Given the description of an element on the screen output the (x, y) to click on. 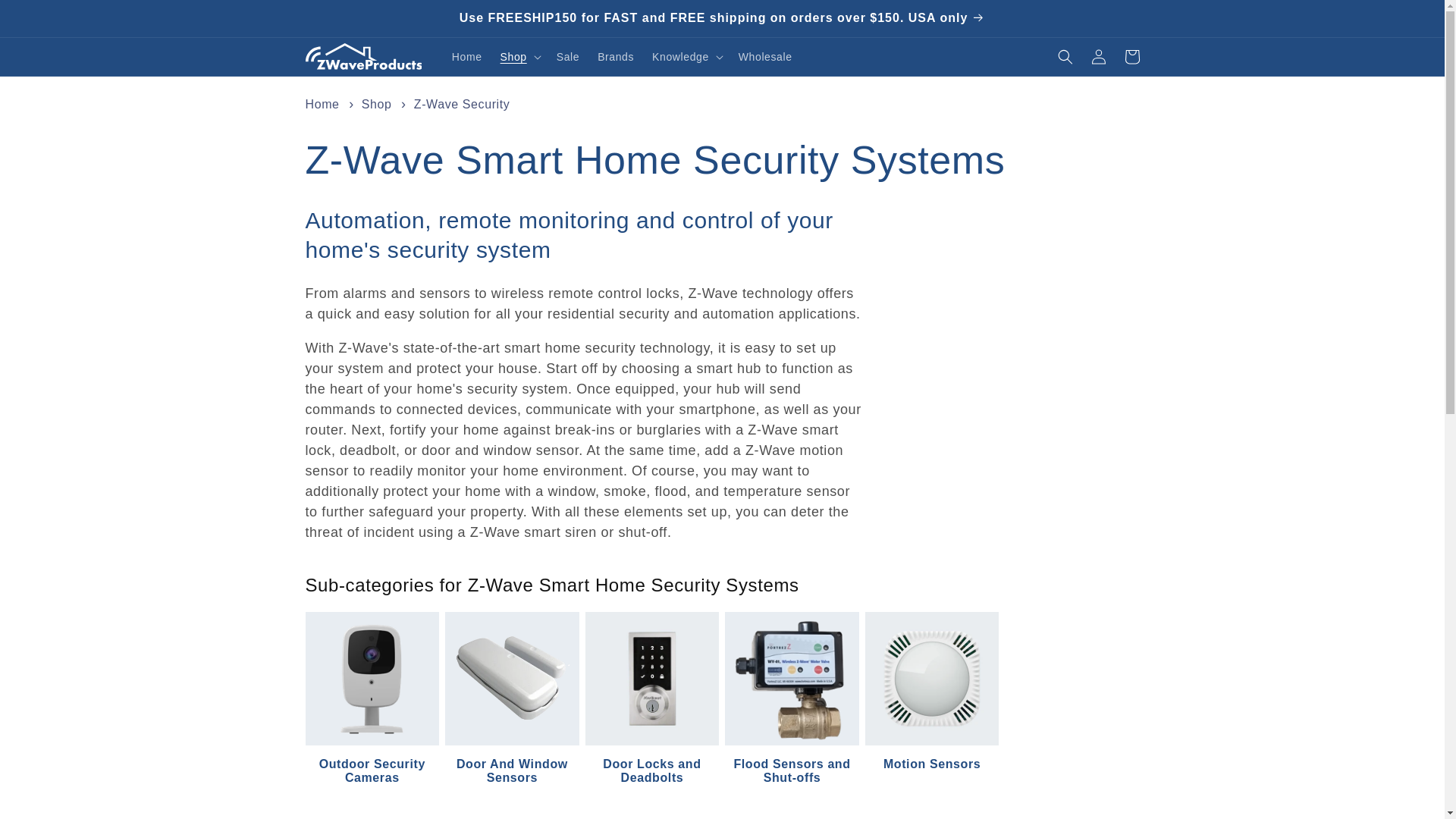
Z-Wave products (363, 56)
Home (321, 103)
Skip to content (45, 17)
Home (467, 56)
Z-Wave products (363, 56)
